Given the description of an element on the screen output the (x, y) to click on. 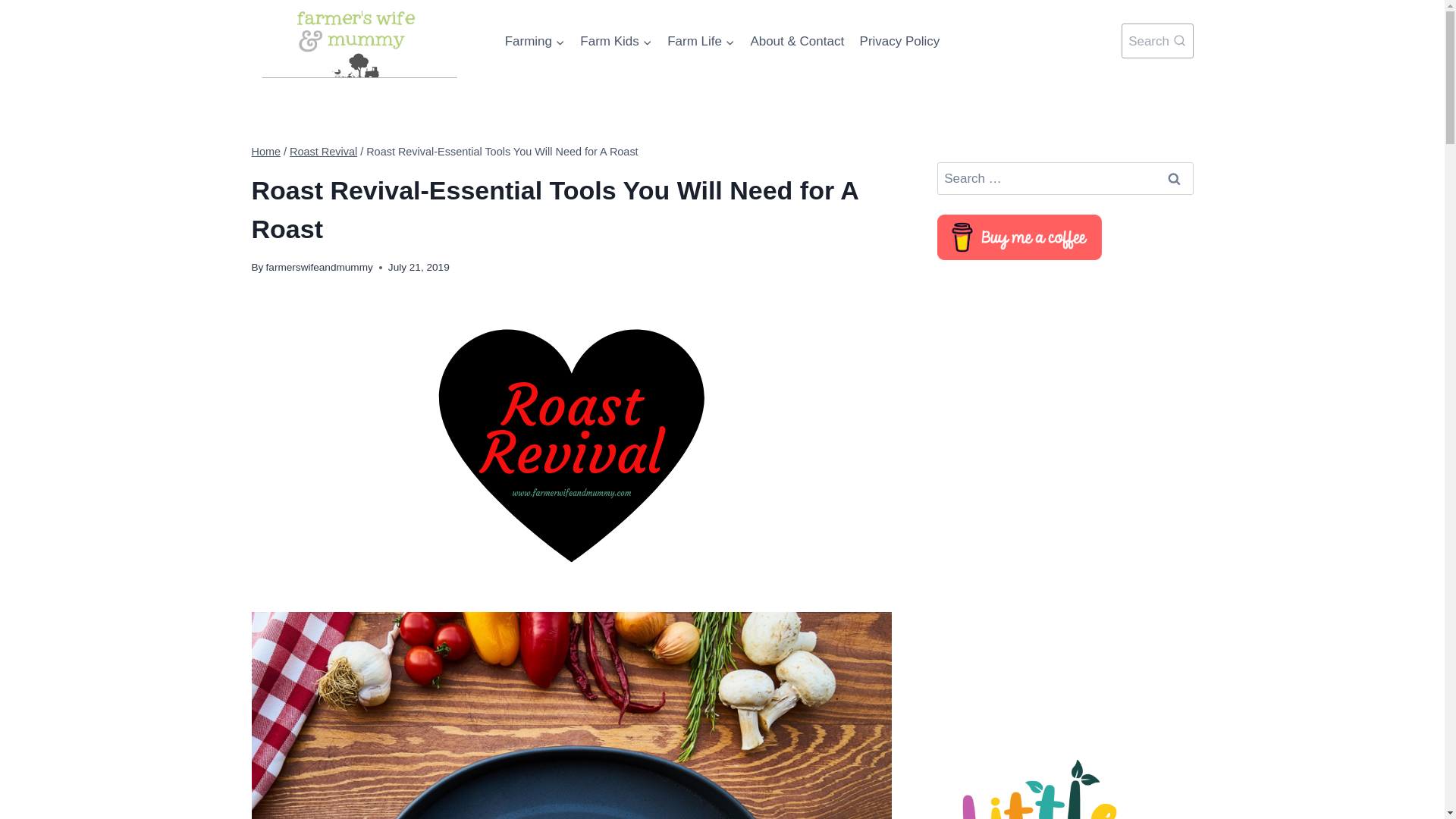
Search (1174, 178)
Search (1174, 178)
farmerswifeandmummy (319, 266)
Search (1157, 40)
Search (1174, 178)
Home (266, 151)
Farm Kids (615, 41)
Roast Revival (322, 151)
Privacy Policy (899, 41)
Farming (534, 41)
Farm Life (700, 41)
